Given the description of an element on the screen output the (x, y) to click on. 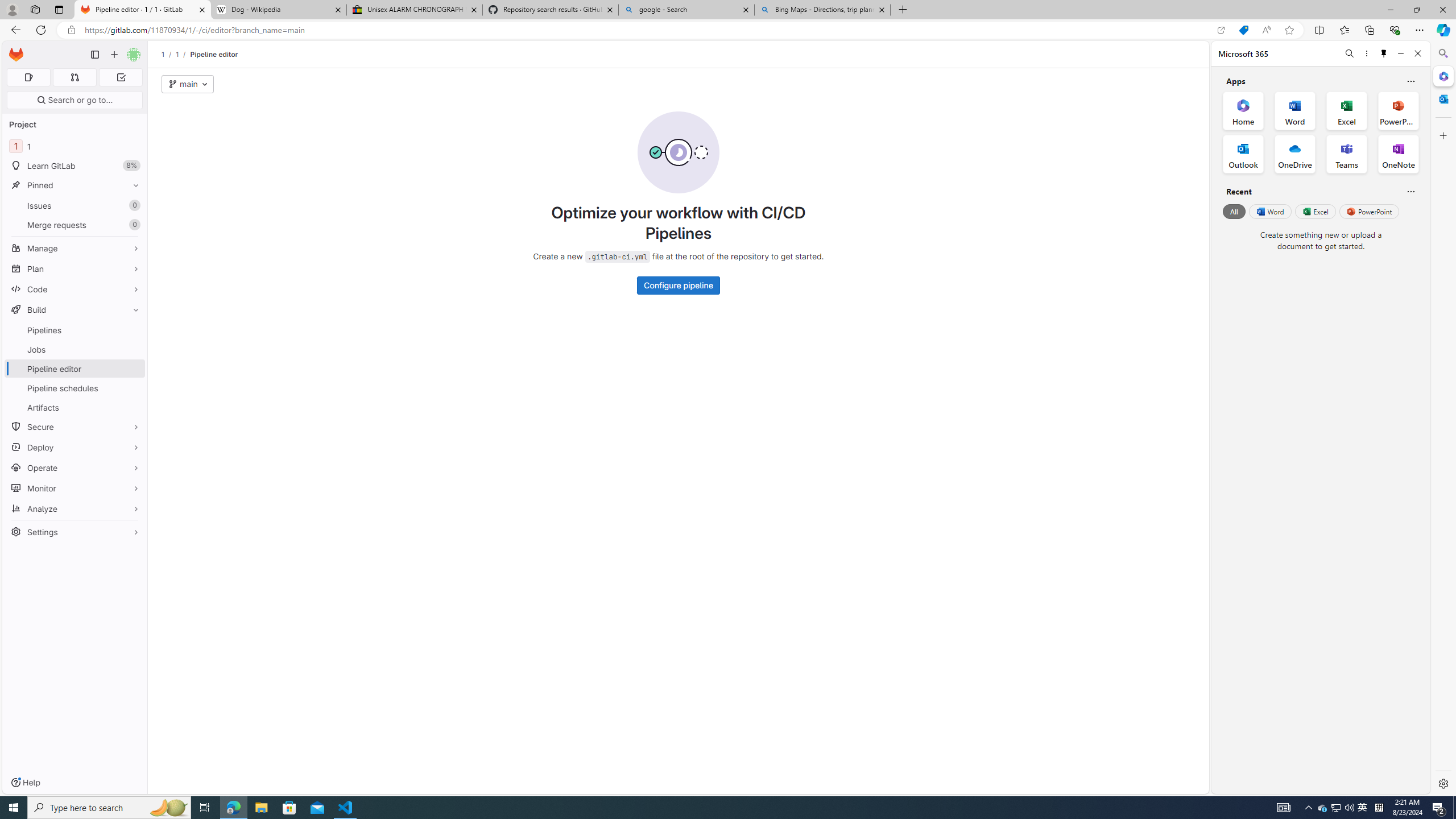
Primary navigation sidebar (94, 54)
Pipeline schedules (74, 387)
Monitor (74, 488)
PowerPoint (1369, 210)
Word Office App (1295, 110)
Learn GitLab8% (74, 165)
Excel Office App (1346, 110)
Assigned issues 0 (28, 76)
Outlook Office App (1243, 154)
